Given the description of an element on the screen output the (x, y) to click on. 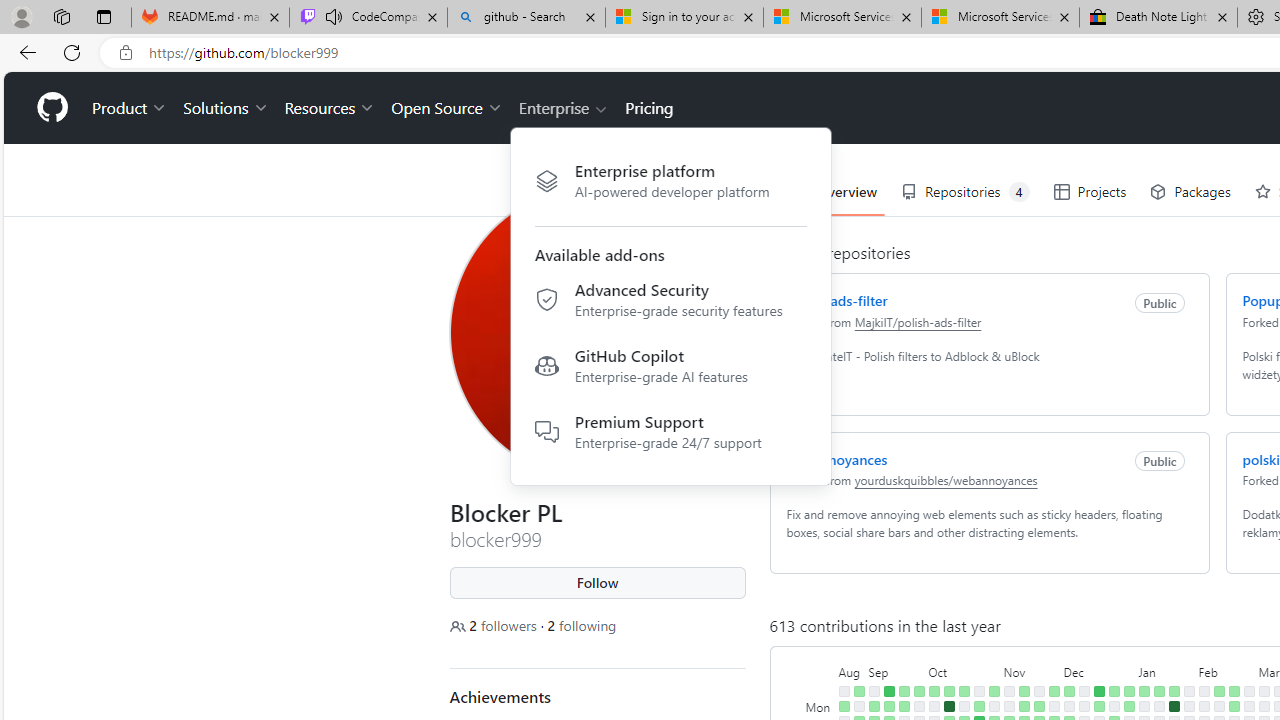
No contributions on February 5th. (1203, 706)
Enterprise (563, 107)
Sunday (819, 691)
3 contributions on September 4th. (873, 706)
yourduskquibbles/webannoyances (945, 480)
GitHub CopilotEnterprise-grade AI features (669, 369)
1 contribution on August 27th. (858, 691)
Homepage (51, 107)
No contributions on November 19th. (1038, 691)
No contributions on September 25th. (918, 706)
Open Source (446, 107)
No contributions on December 11th. (1083, 706)
February (1226, 670)
9 contributions on September 10th. (888, 691)
No contributions on January 29th. (1188, 706)
